Given the description of an element on the screen output the (x, y) to click on. 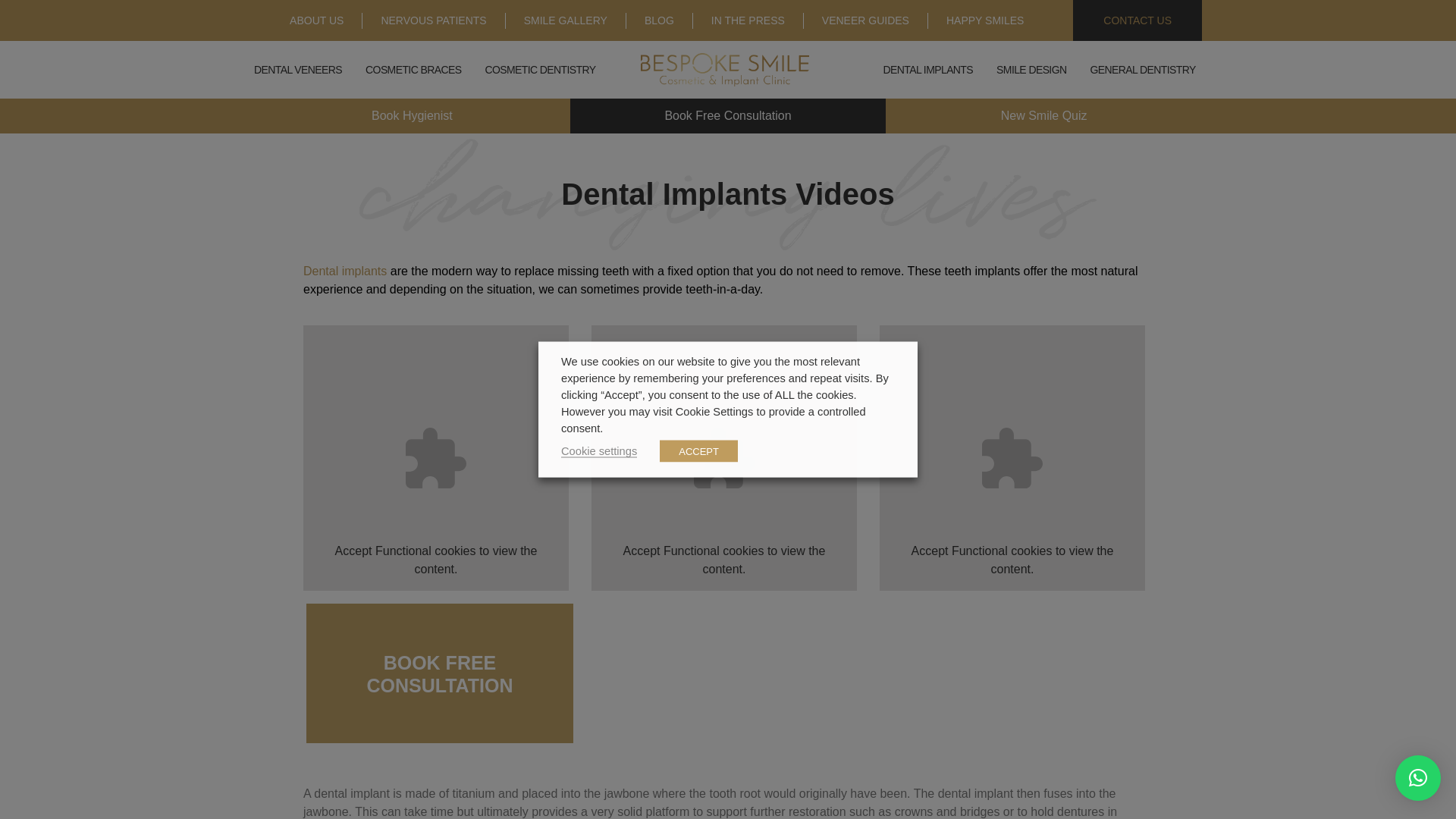
Book Hygienist (411, 115)
COSMETIC BRACES (413, 69)
BLOG (659, 19)
COSMETIC DENTISTRY (539, 69)
New Smile Quiz (1043, 115)
SMILE GALLERY (565, 19)
NERVOUS PATIENTS (433, 19)
SMILE DESIGN (1030, 69)
Book Free Consultation (727, 115)
DENTAL IMPLANTS (927, 69)
